Given the description of an element on the screen output the (x, y) to click on. 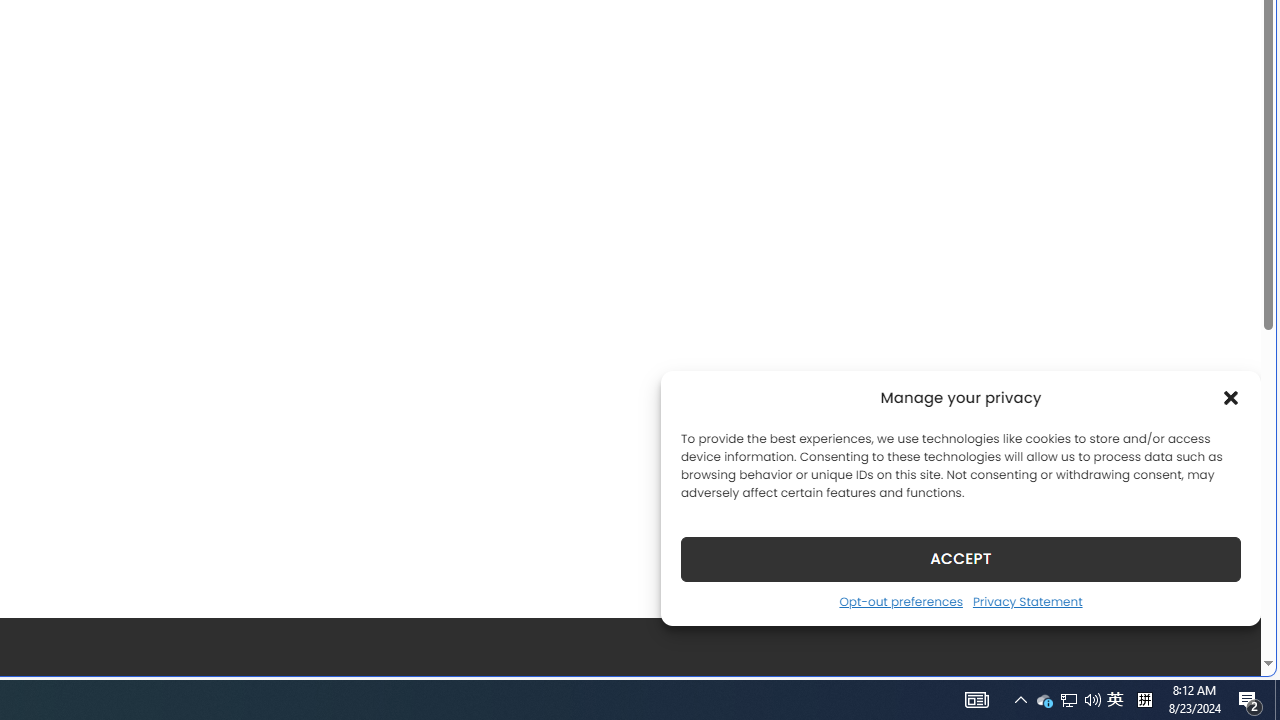
Class: cmplz-close (1231, 397)
Privacy Statement (1026, 601)
Opt-out preferences (900, 601)
Go to top (1220, 647)
ACCEPT (960, 558)
